Given the description of an element on the screen output the (x, y) to click on. 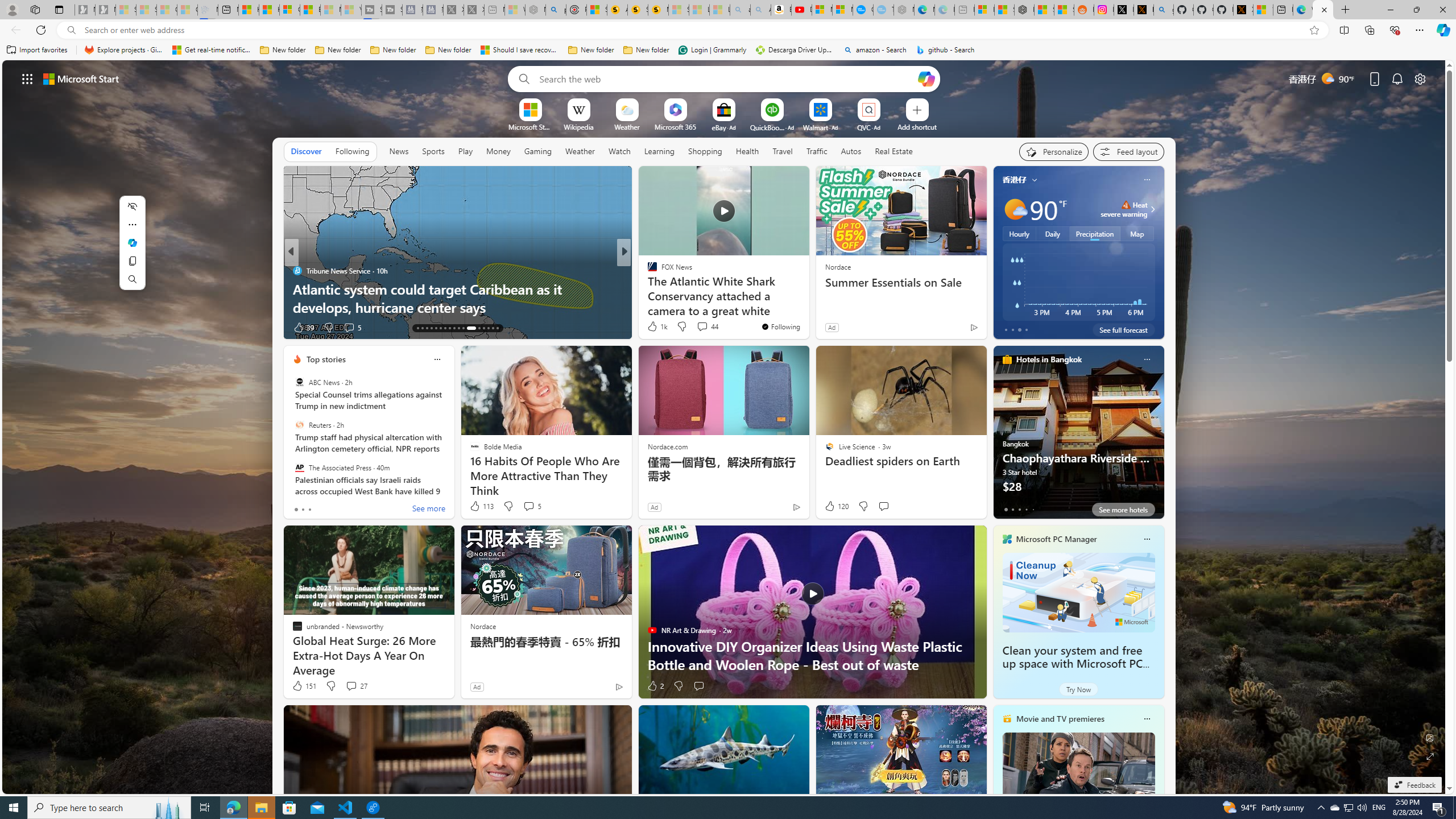
Descarga Driver Updater (794, 49)
View comments 5 Comment (528, 505)
View comments 77 Comment (6, 327)
The Weather Channel (647, 270)
AutomationID: tab-27 (488, 328)
Men Share The 14 Unspoken Rules for Successful Marriage (807, 298)
Overview (289, 9)
AutomationID: tab-16 (431, 328)
